Given the description of an element on the screen output the (x, y) to click on. 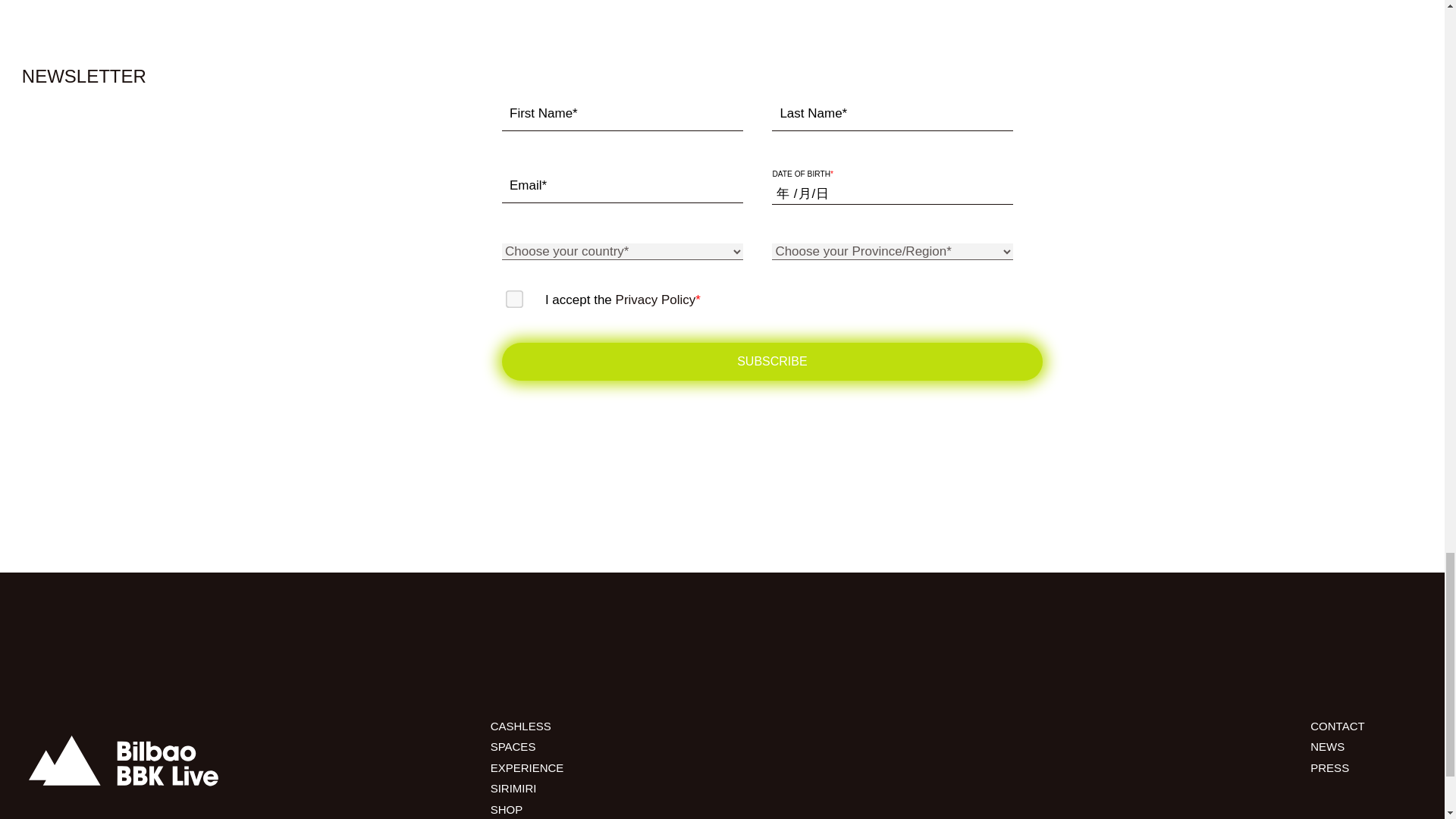
SHOP (506, 809)
EXPERIENCE (527, 767)
SIRIMIRI (513, 788)
Privacy Policy (655, 299)
CASHLESS (520, 725)
SUBSCRIBE (772, 361)
PRESS (1329, 767)
CONTACT (1337, 725)
SPACES (512, 746)
1 (510, 294)
NEWS (1326, 746)
SUBSCRIBE (772, 361)
